Given the description of an element on the screen output the (x, y) to click on. 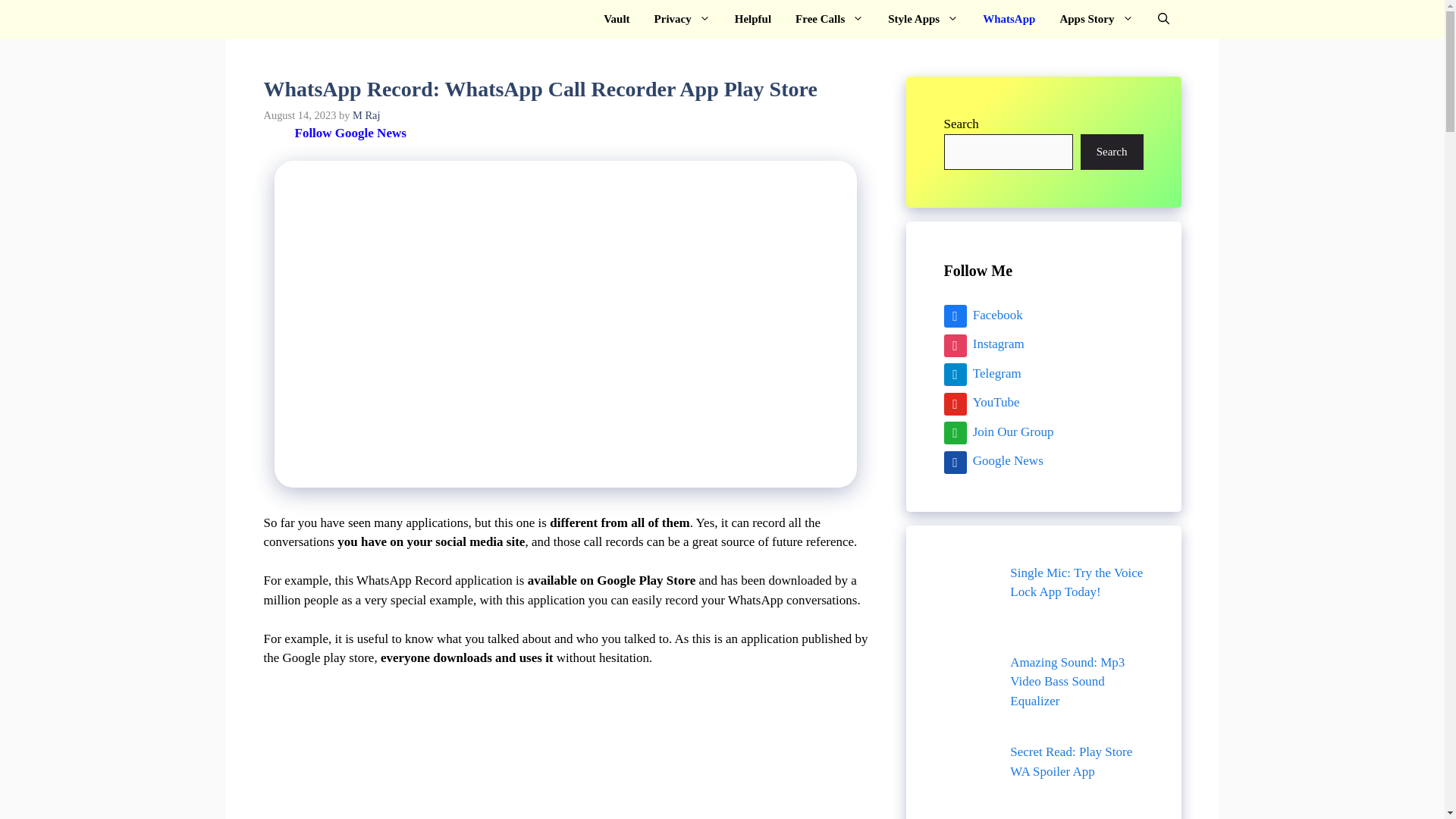
Vault (616, 19)
WhatsApp (1008, 19)
Privacy (682, 19)
Apps Story (1095, 19)
Free Calls (829, 19)
Play Store App (310, 19)
M Raj (366, 114)
Facebook (982, 314)
Style Apps (923, 19)
Instagram (983, 343)
